Given the description of an element on the screen output the (x, y) to click on. 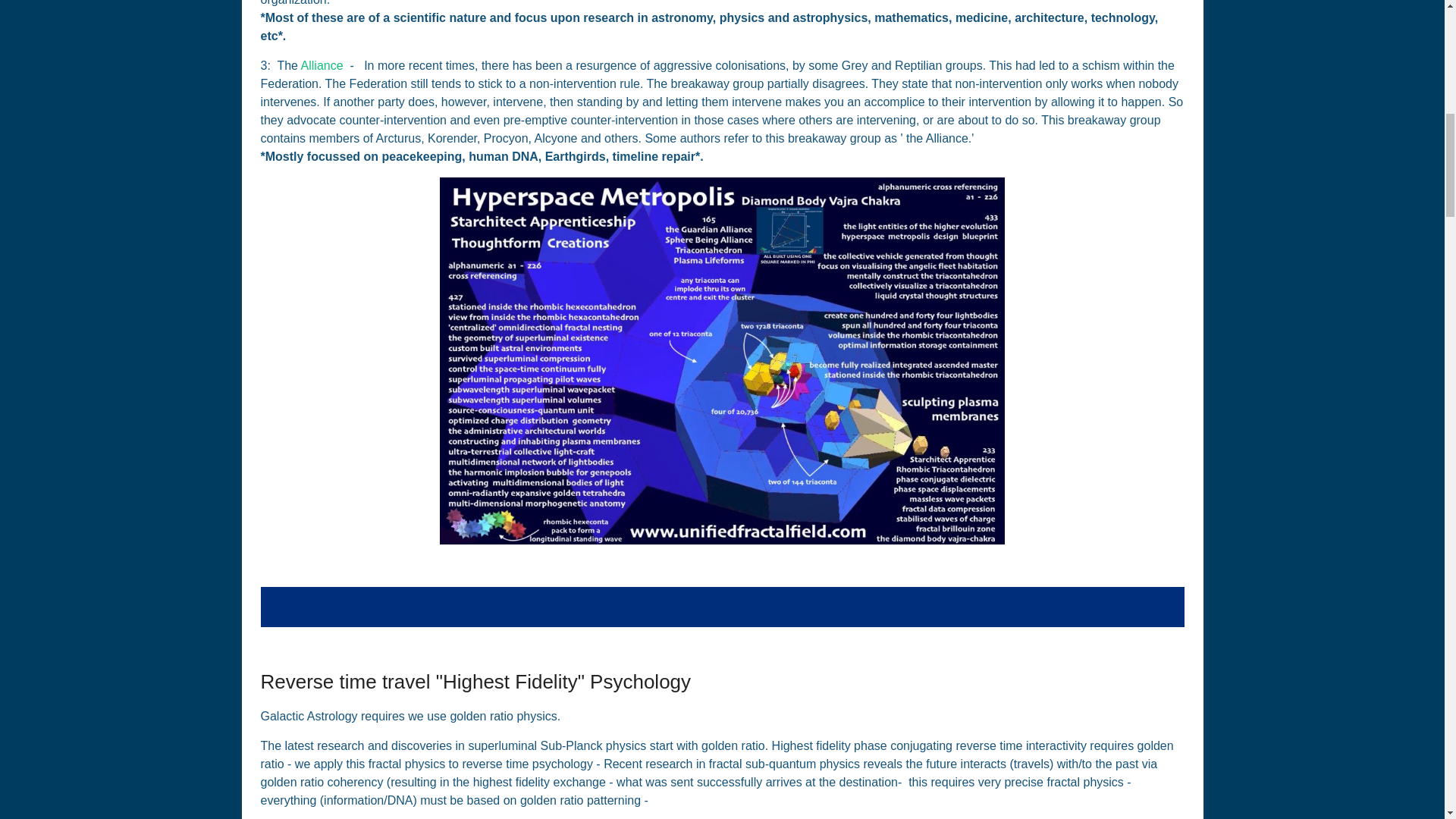
Alliance (322, 65)
